Given the description of an element on the screen output the (x, y) to click on. 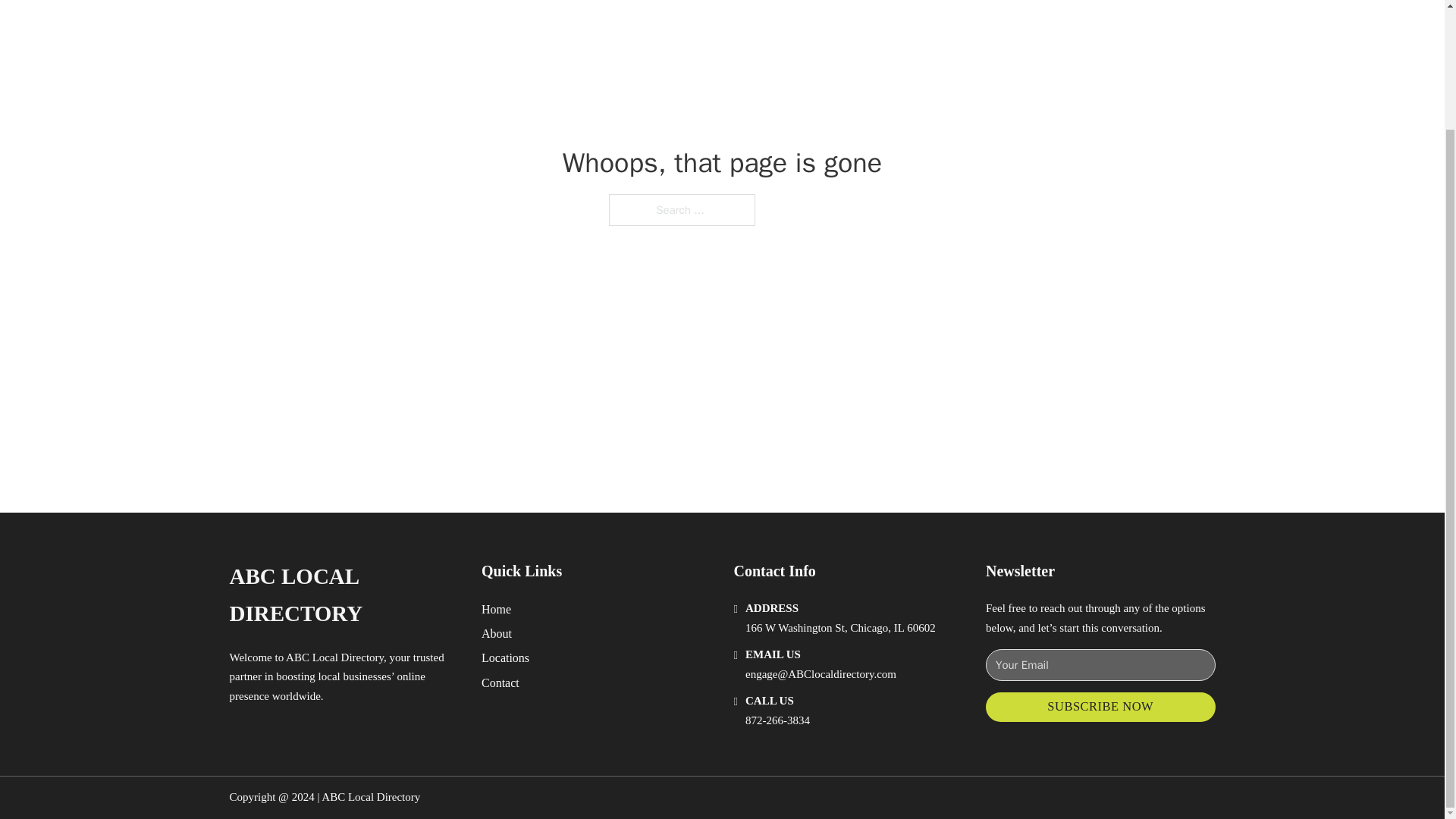
872-266-3834 (777, 720)
SUBSCRIBE NOW (1100, 706)
Home (496, 608)
Locations (505, 657)
ABC LOCAL DIRECTORY (343, 595)
About (496, 633)
Contact (500, 682)
